Given the description of an element on the screen output the (x, y) to click on. 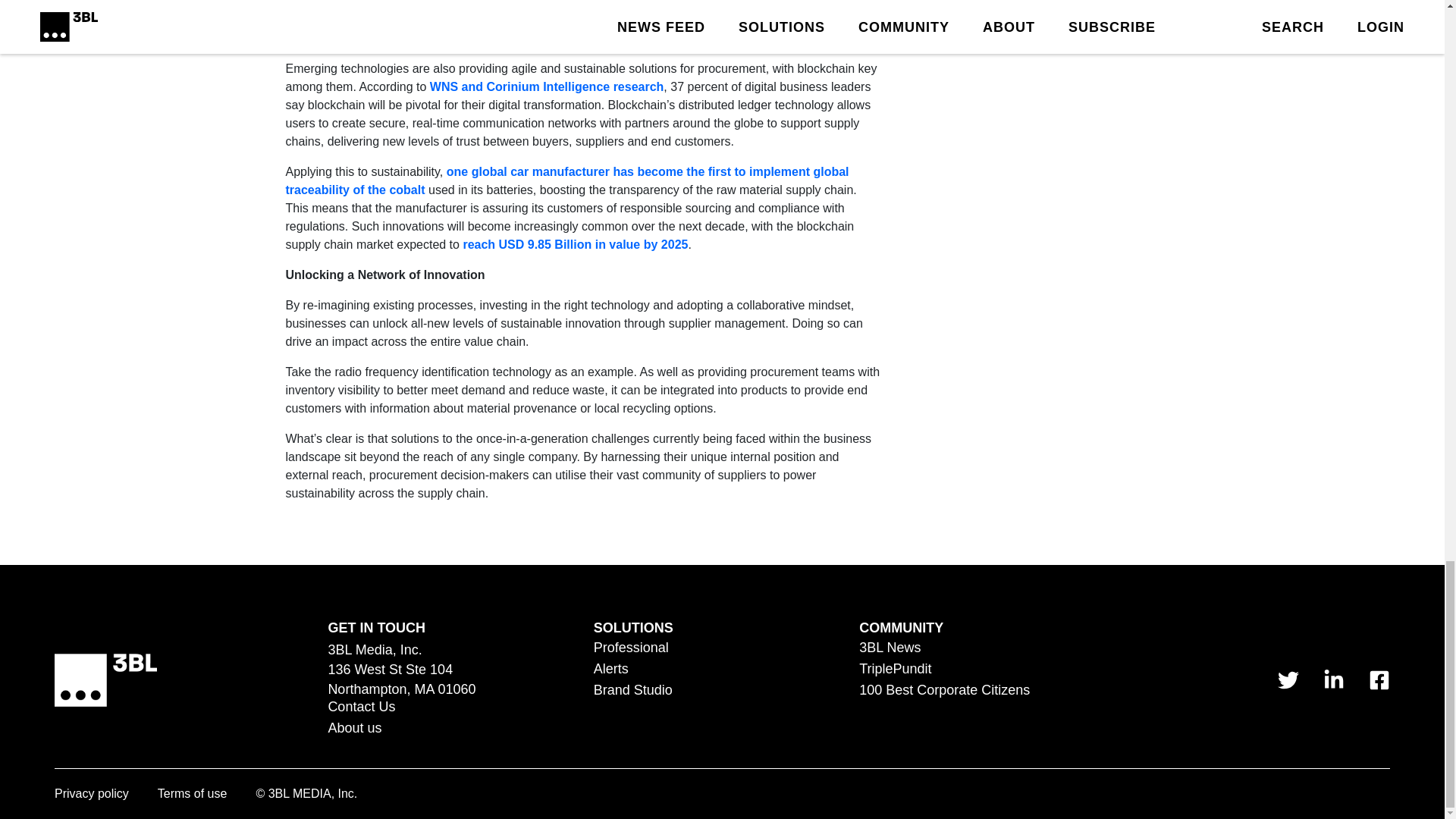
link to 3 B L Media's Linkedin (1333, 680)
link to 3 B L Media's Facebook (1379, 680)
link to 3 B L Media's Twitter (1288, 680)
